Given the description of an element on the screen output the (x, y) to click on. 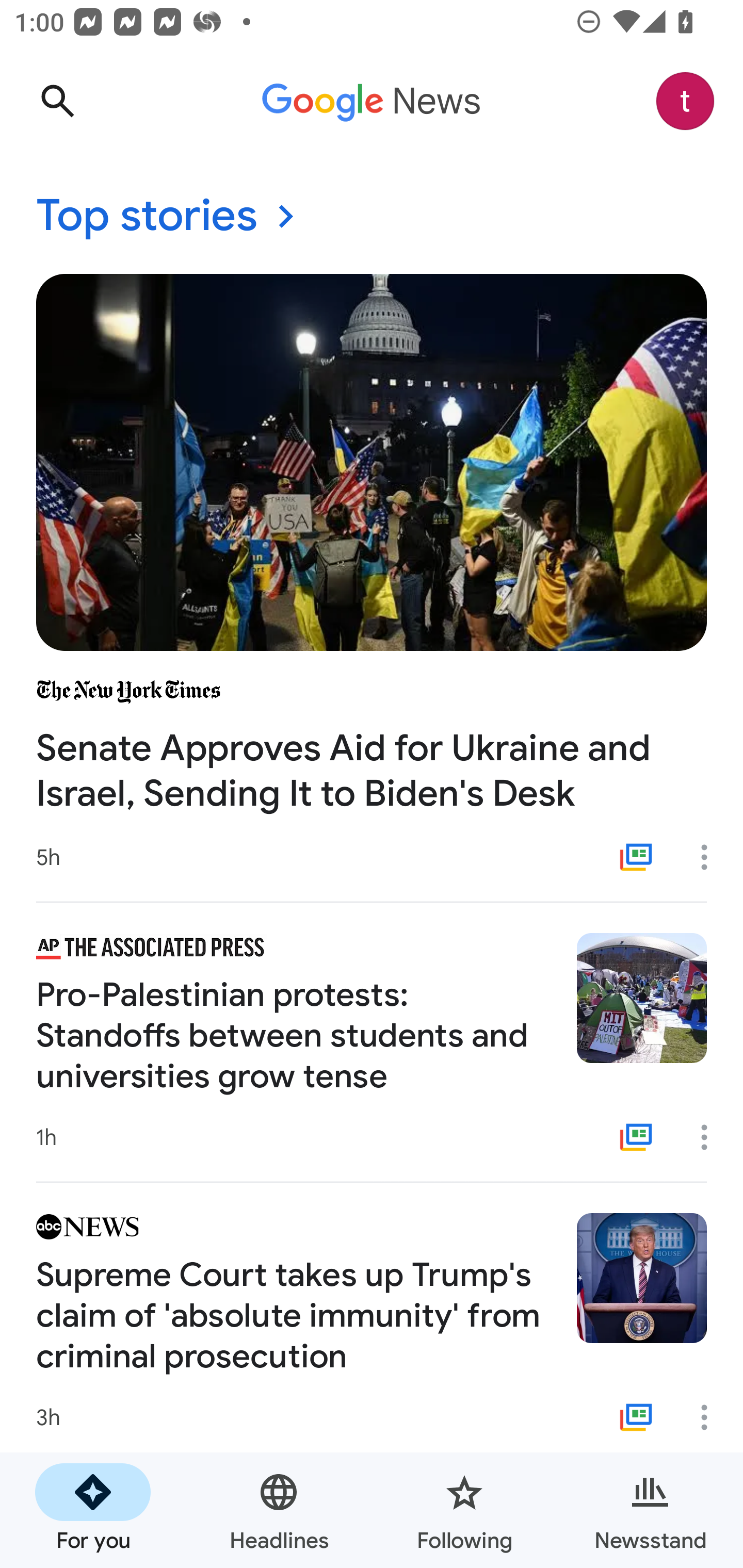
Search (57, 100)
Top stories (371, 216)
More options (711, 856)
More options (711, 1137)
More options (711, 1417)
For you (92, 1509)
Headlines (278, 1509)
Following (464, 1509)
Newsstand (650, 1509)
